Given the description of an element on the screen output the (x, y) to click on. 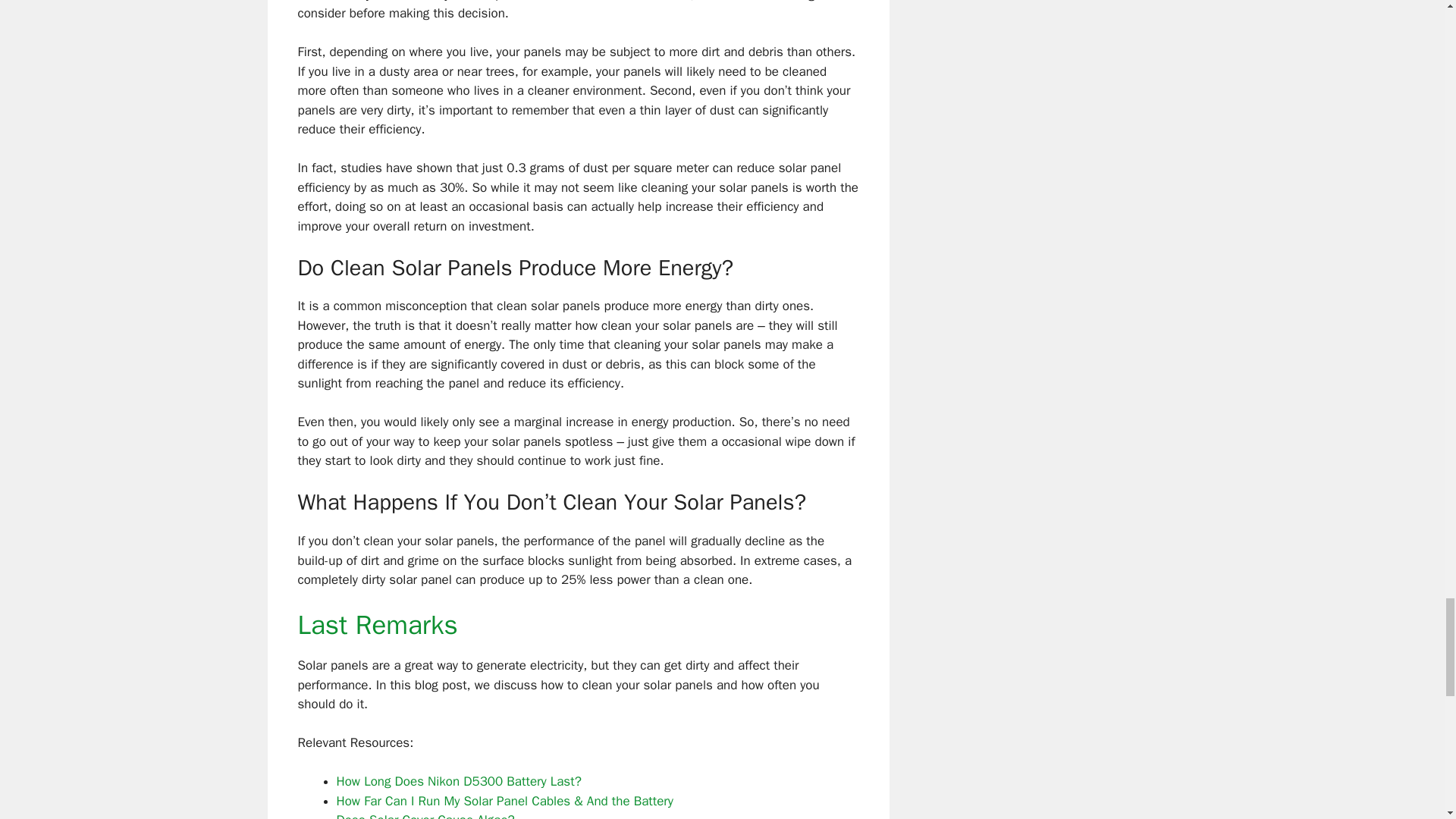
Does Solar Cover Cause Algae? (425, 815)
How Long Does Nikon D5300 Battery Last? (458, 781)
